Given the description of an element on the screen output the (x, y) to click on. 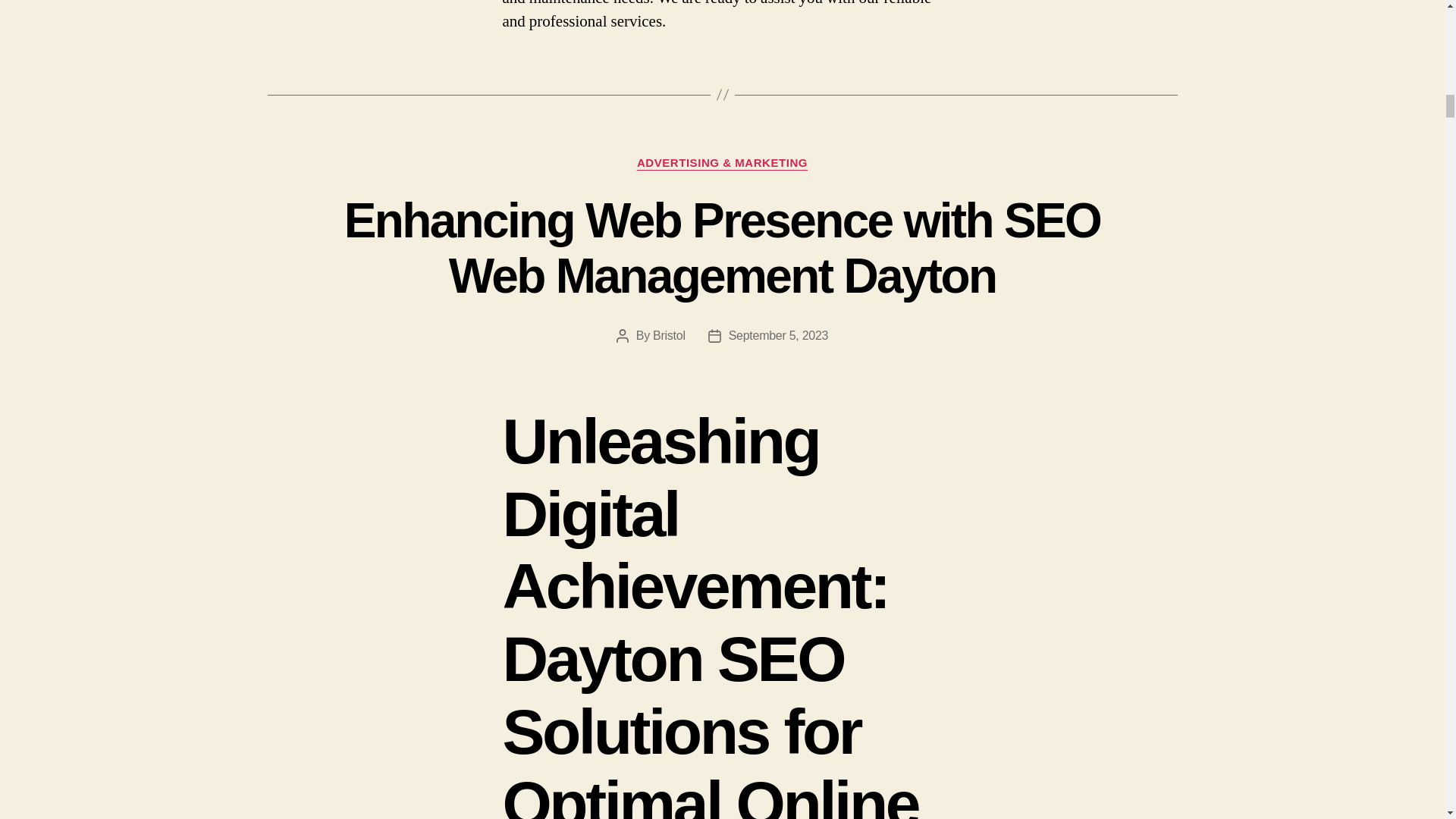
September 5, 2023 (778, 335)
Enhancing Web Presence with SEO Web Management Dayton (721, 248)
Bristol (668, 335)
